Given the description of an element on the screen output the (x, y) to click on. 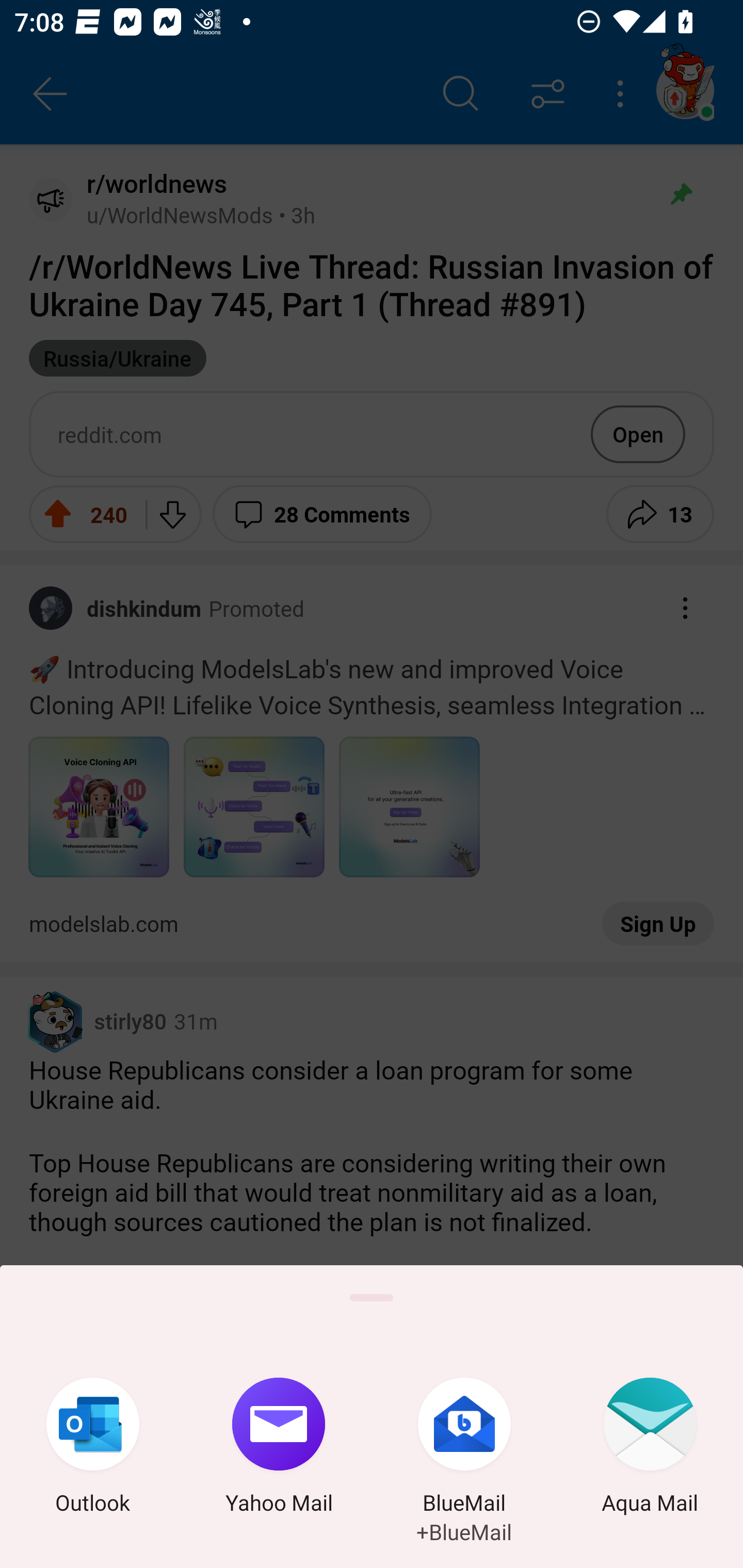
Outlook (92, 1448)
Yahoo Mail (278, 1448)
BlueMail +BlueMail (464, 1448)
Aqua Mail (650, 1448)
